Given the description of an element on the screen output the (x, y) to click on. 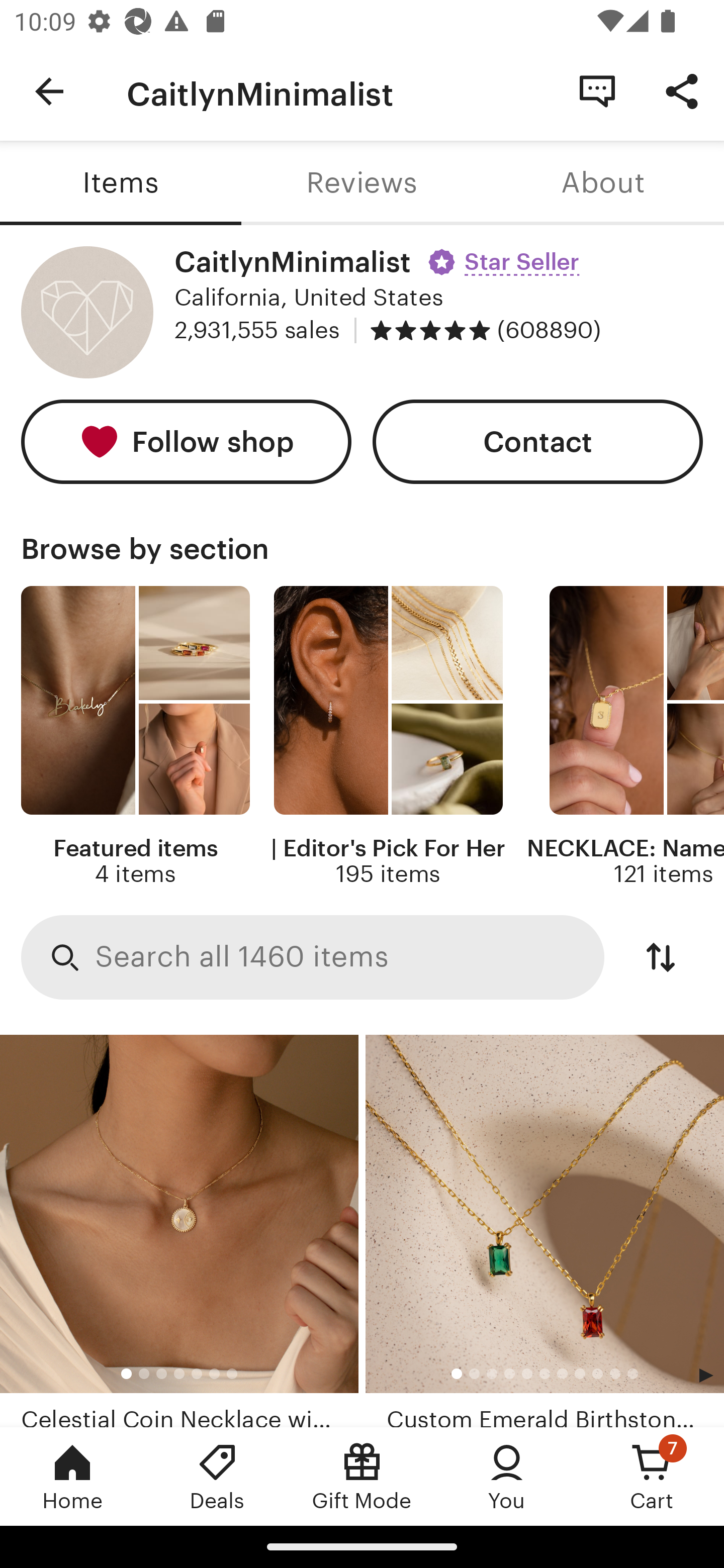
Navigate up (49, 91)
Contact Shop (597, 90)
Share (681, 90)
Reviews (361, 183)
About (603, 183)
Star Seller (506, 255)
Follow shop (185, 441)
Contact (537, 441)
Featured items 4 items (134, 736)
| Editor's Pick For Her 195 items (388, 736)
NECKLACE: Name, Initial 121 items (625, 736)
Search Search all 1460 items (312, 957)
Deals (216, 1475)
Gift Mode (361, 1475)
You (506, 1475)
Cart, 7 new notifications Cart (651, 1475)
